Given the description of an element on the screen output the (x, y) to click on. 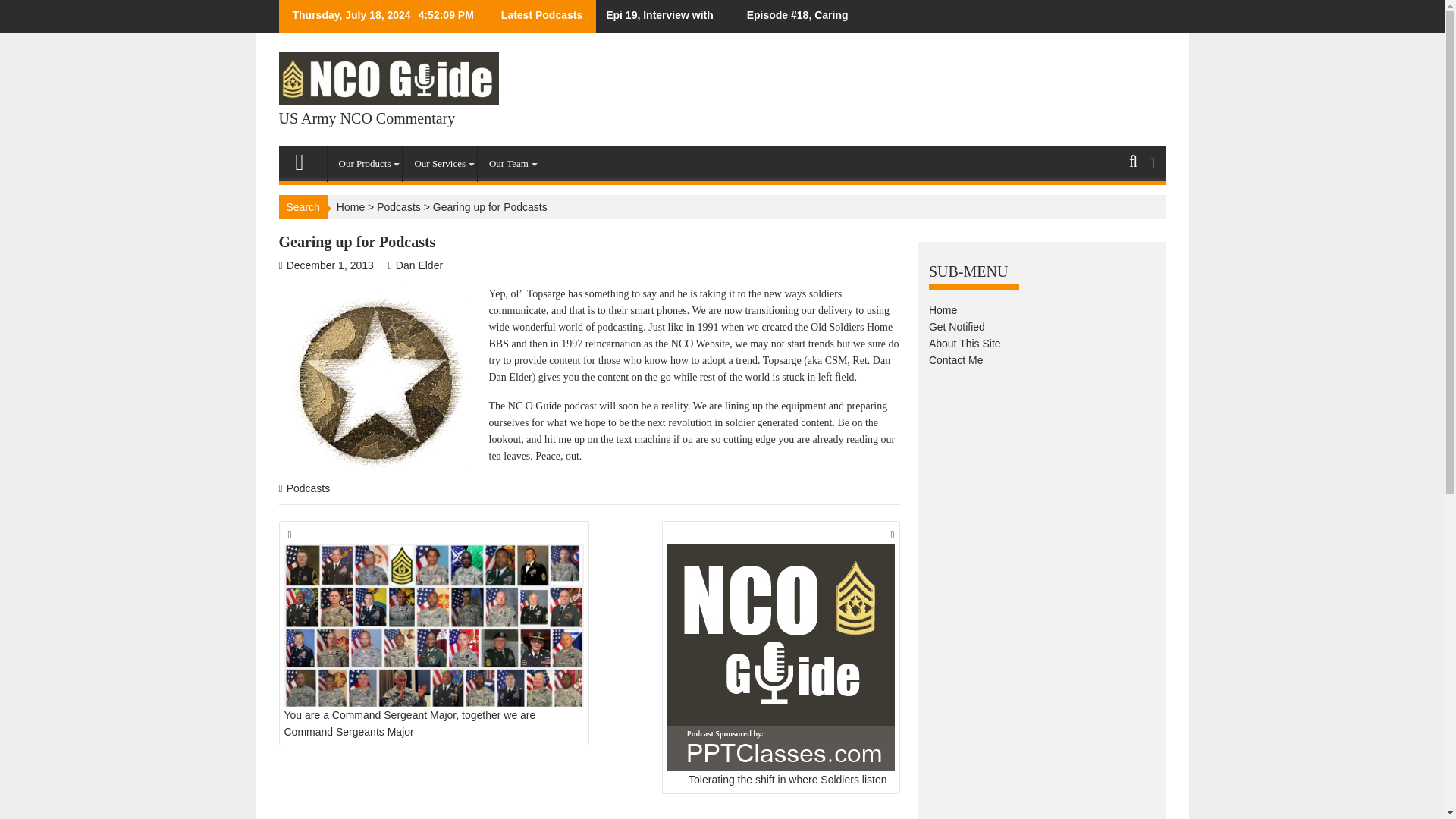
The NCO Guide (306, 158)
Our Team (508, 163)
Epi 19, Interview with CSM Terry Burton, USACRC CSM (662, 16)
Our Services (440, 163)
Epi 19, Interview with CSM Terry Burton, USACRC CSM (662, 16)
Our Products (365, 163)
